Given the description of an element on the screen output the (x, y) to click on. 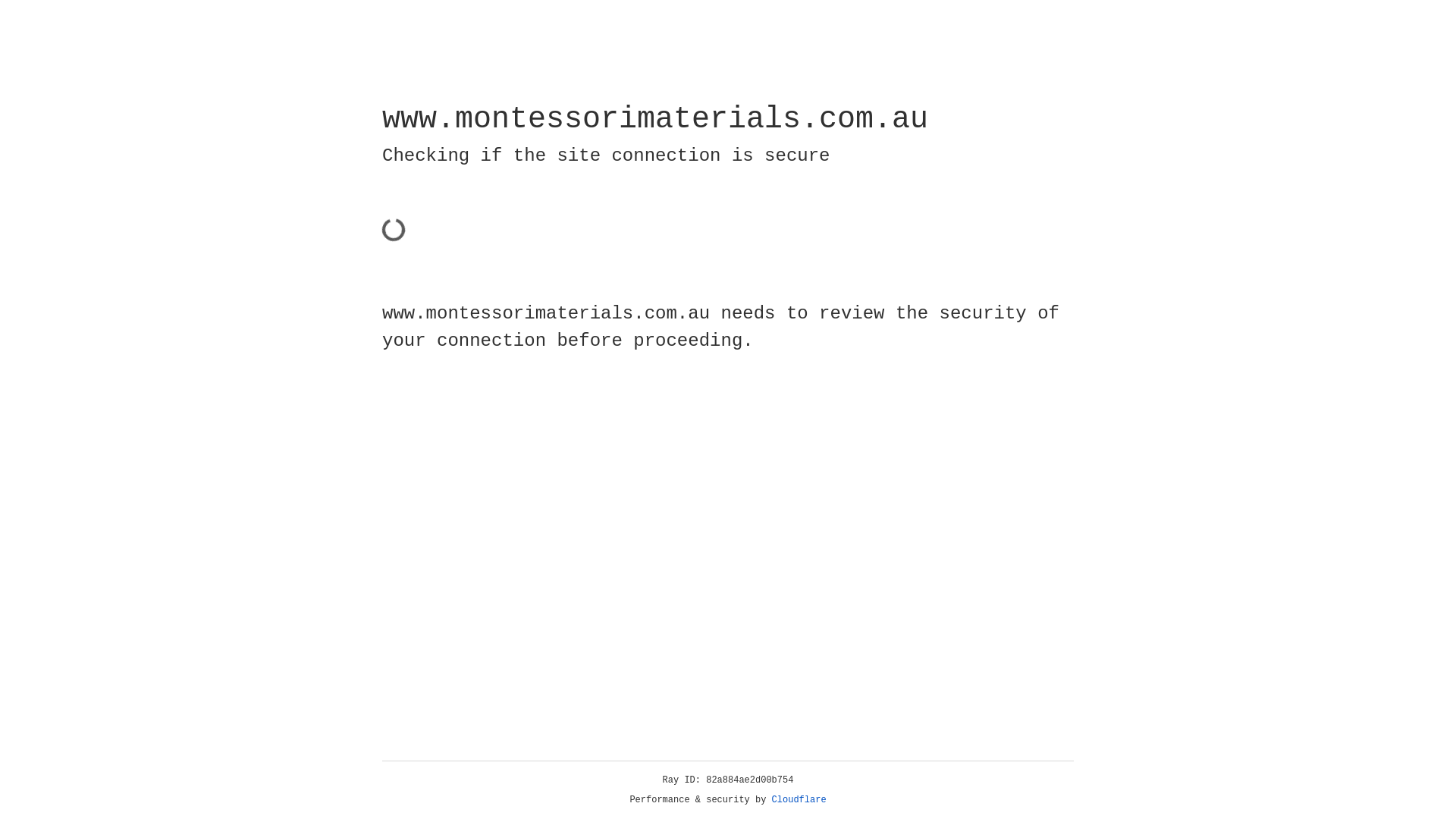
Cloudflare Element type: text (798, 799)
